Given the description of an element on the screen output the (x, y) to click on. 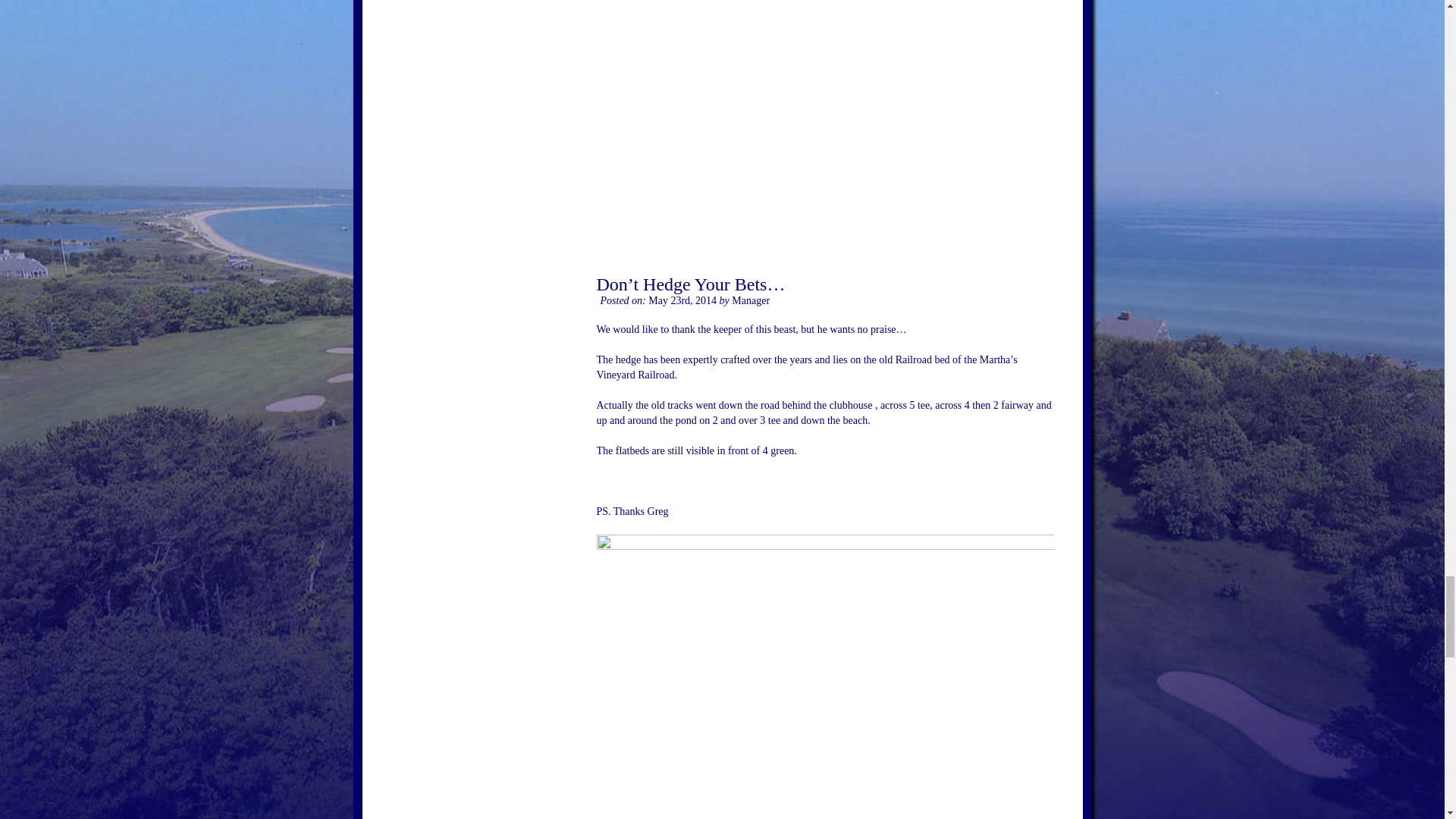
DSCN0399 (823, 118)
DSCN0387 (823, 676)
